Given the description of an element on the screen output the (x, y) to click on. 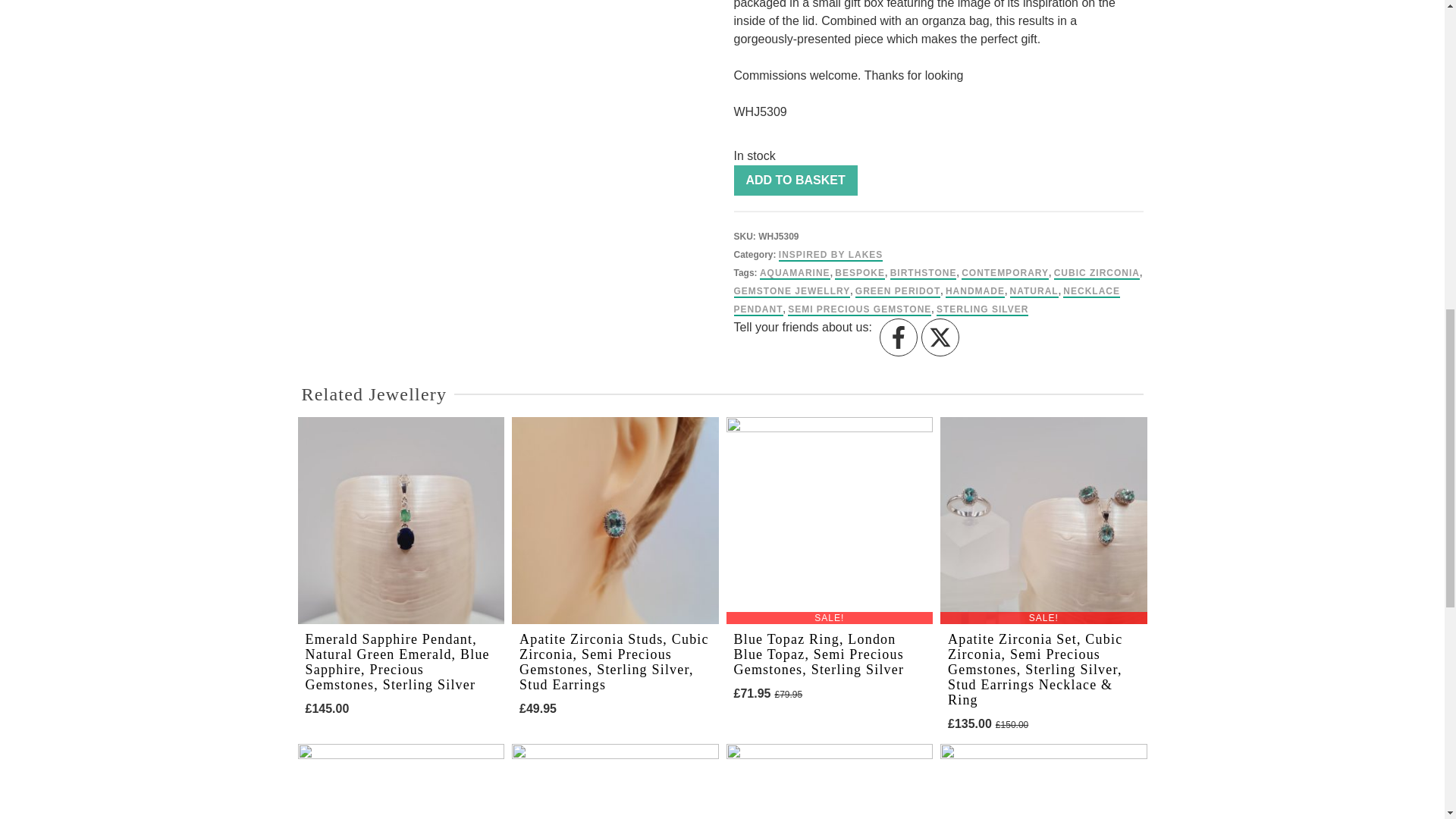
CONTEMPORARY (1004, 273)
INSPIRED BY LAKES (830, 255)
ADD TO BASKET (795, 180)
AQUAMARINE (794, 273)
BIRTHSTONE (922, 273)
BESPOKE (859, 273)
